Given the description of an element on the screen output the (x, y) to click on. 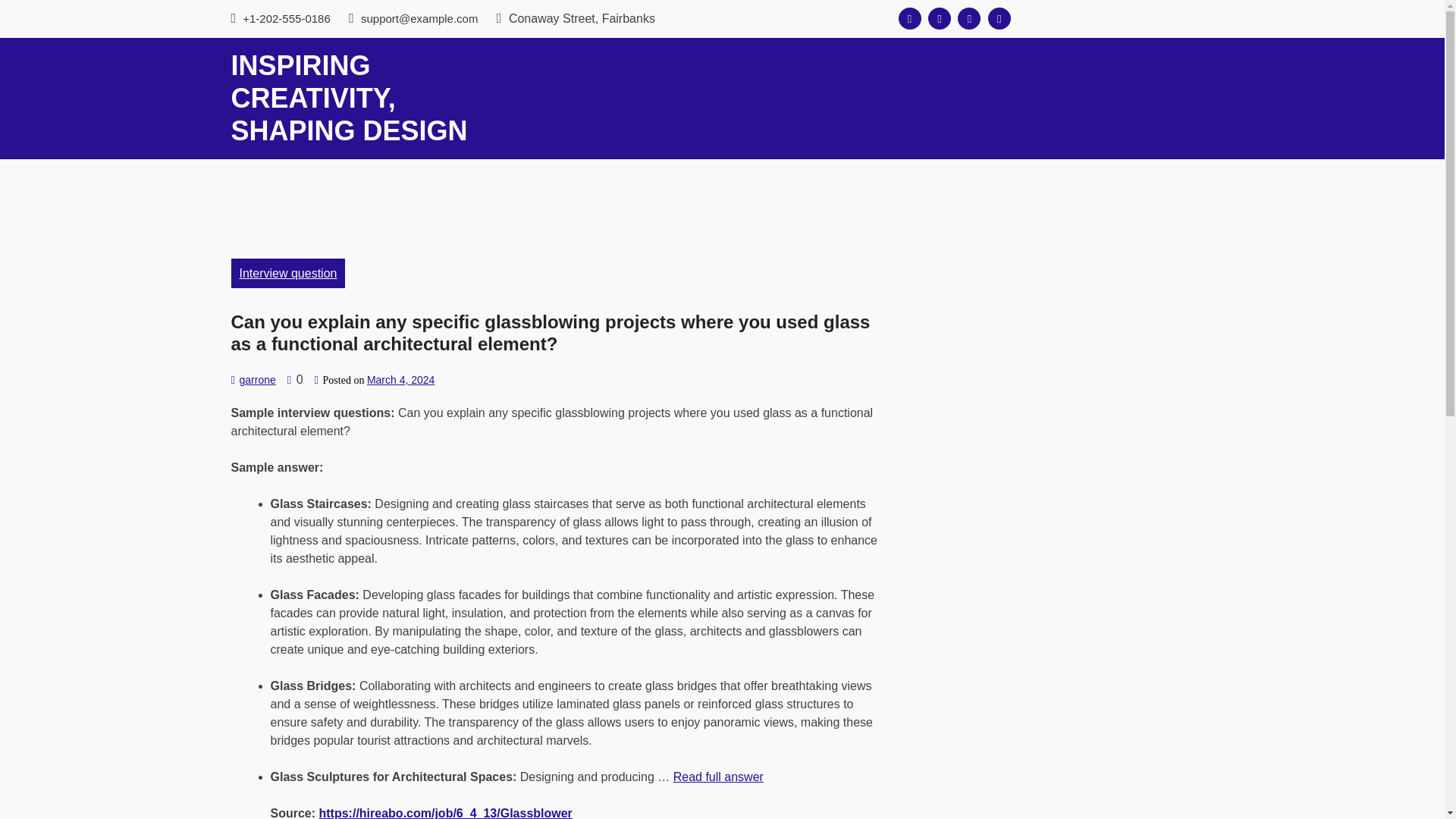
Read full answer (717, 776)
garrone (256, 379)
March 4, 2024 (400, 379)
Inspiring Creativity, Shaping Design (348, 97)
INSPIRING CREATIVITY, SHAPING DESIGN (348, 97)
Interview question (287, 273)
